Given the description of an element on the screen output the (x, y) to click on. 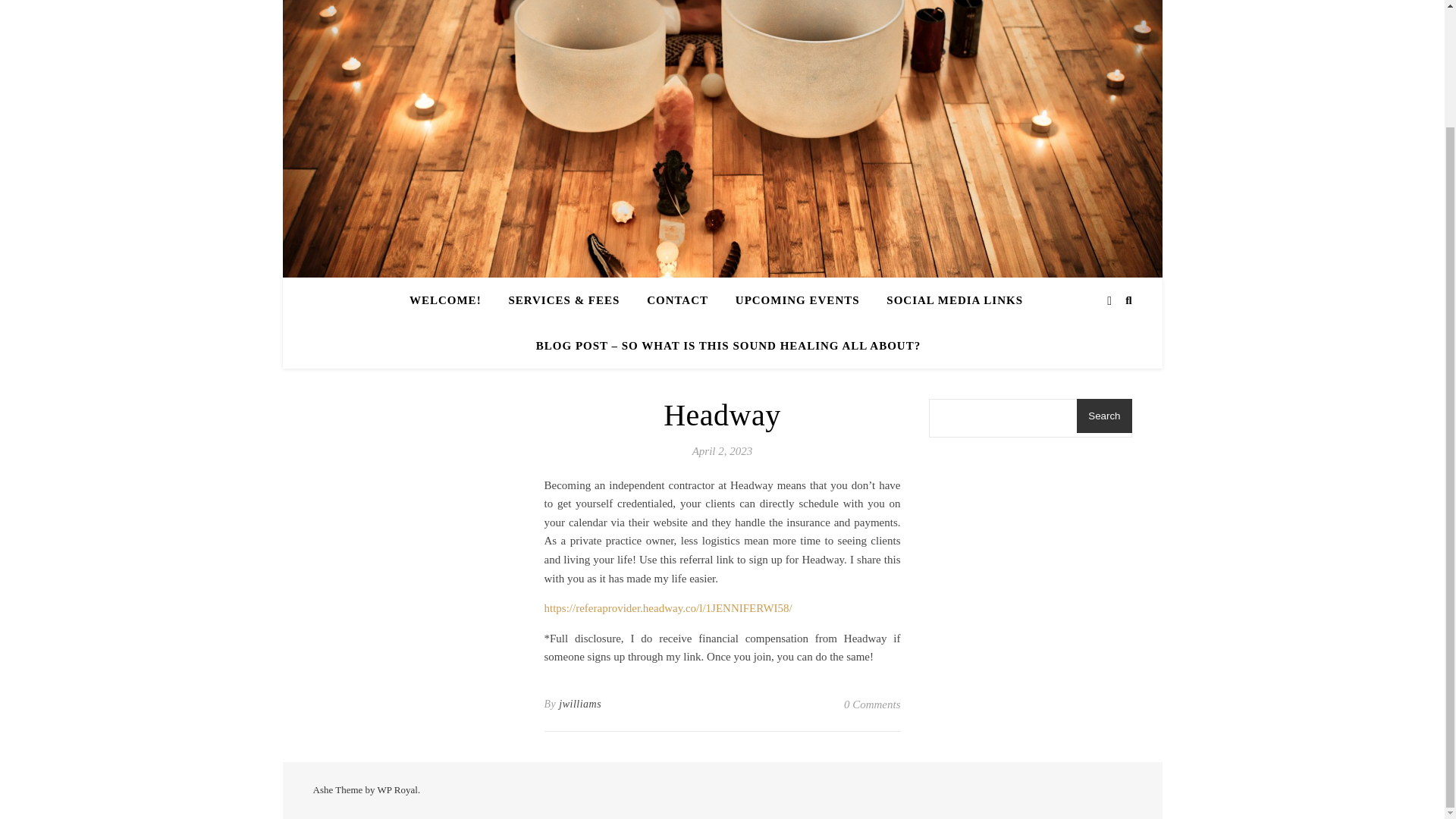
0 Comments (872, 703)
SOCIAL MEDIA LINKS (955, 299)
WELCOME! (451, 299)
UPCOMING EVENTS (797, 299)
Search (1104, 415)
jwilliams (580, 703)
Posts by jwilliams (580, 703)
CONTACT (677, 299)
WP Royal (397, 789)
